Given the description of an element on the screen output the (x, y) to click on. 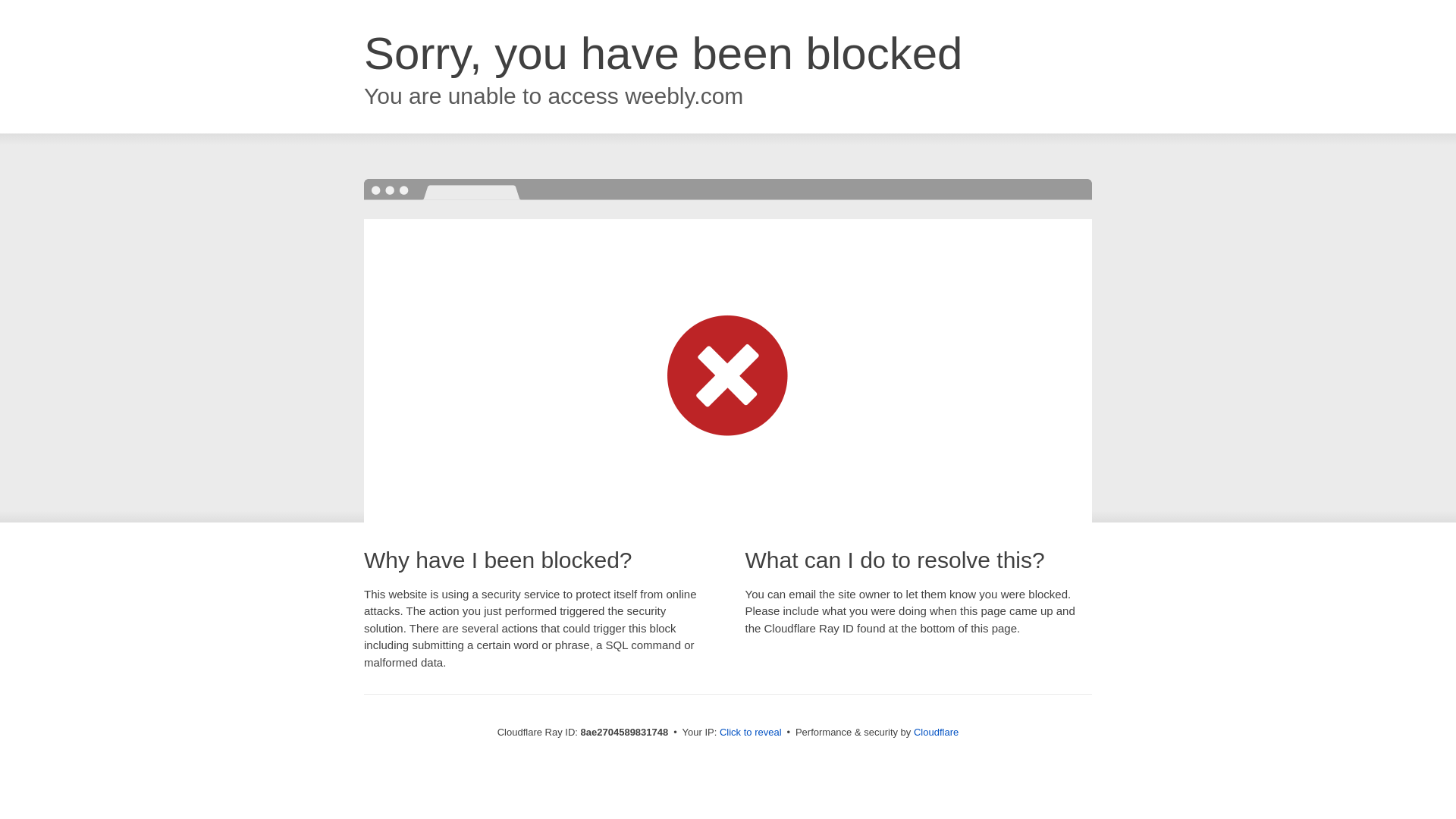
Cloudflare (936, 731)
Click to reveal (750, 732)
